Given the description of an element on the screen output the (x, y) to click on. 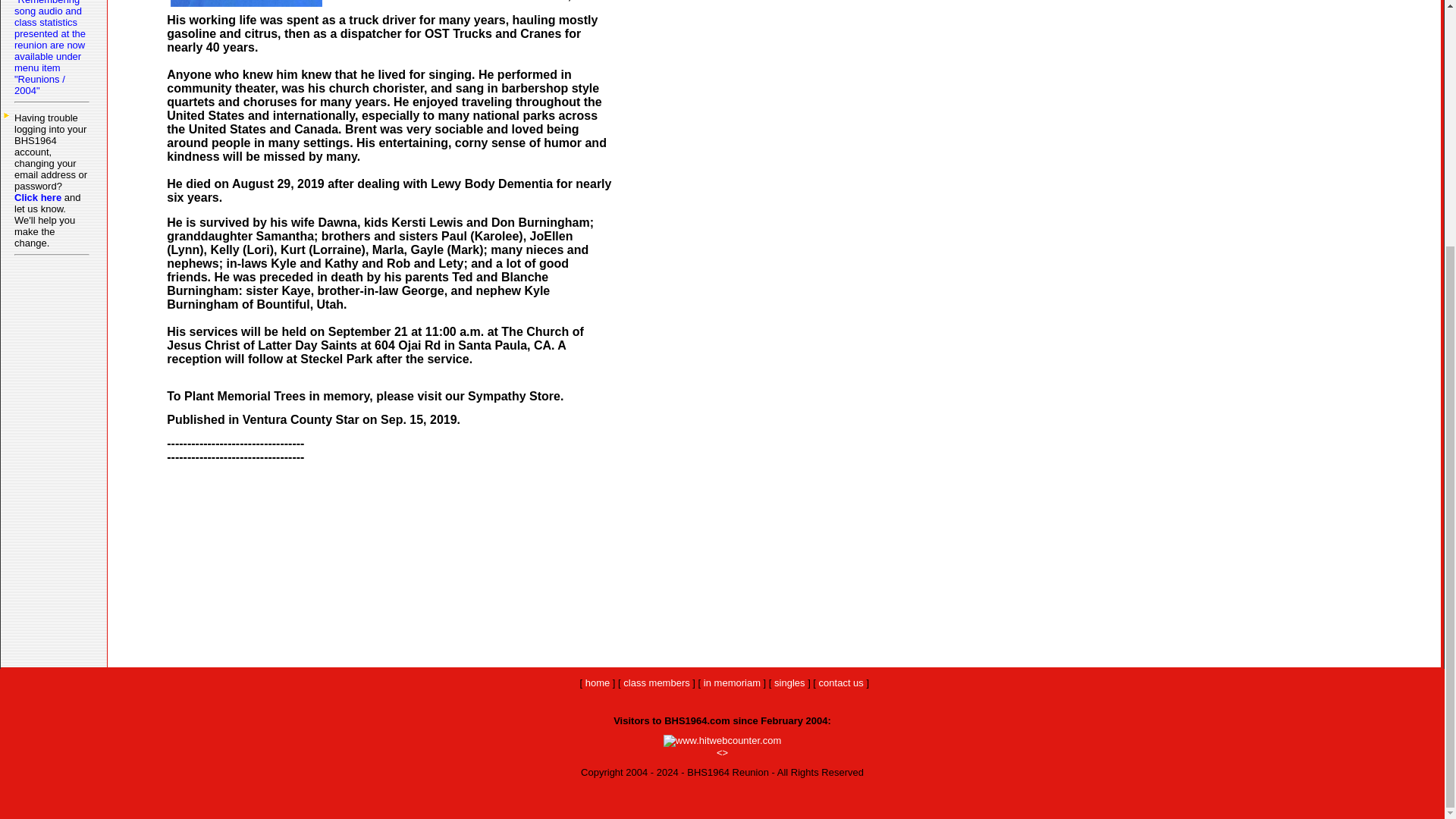
class members (655, 682)
contact us (840, 682)
Click here (37, 197)
in memoriam (731, 682)
www.hitwebcounter.com (721, 740)
home (597, 682)
singles (789, 682)
